Given the description of an element on the screen output the (x, y) to click on. 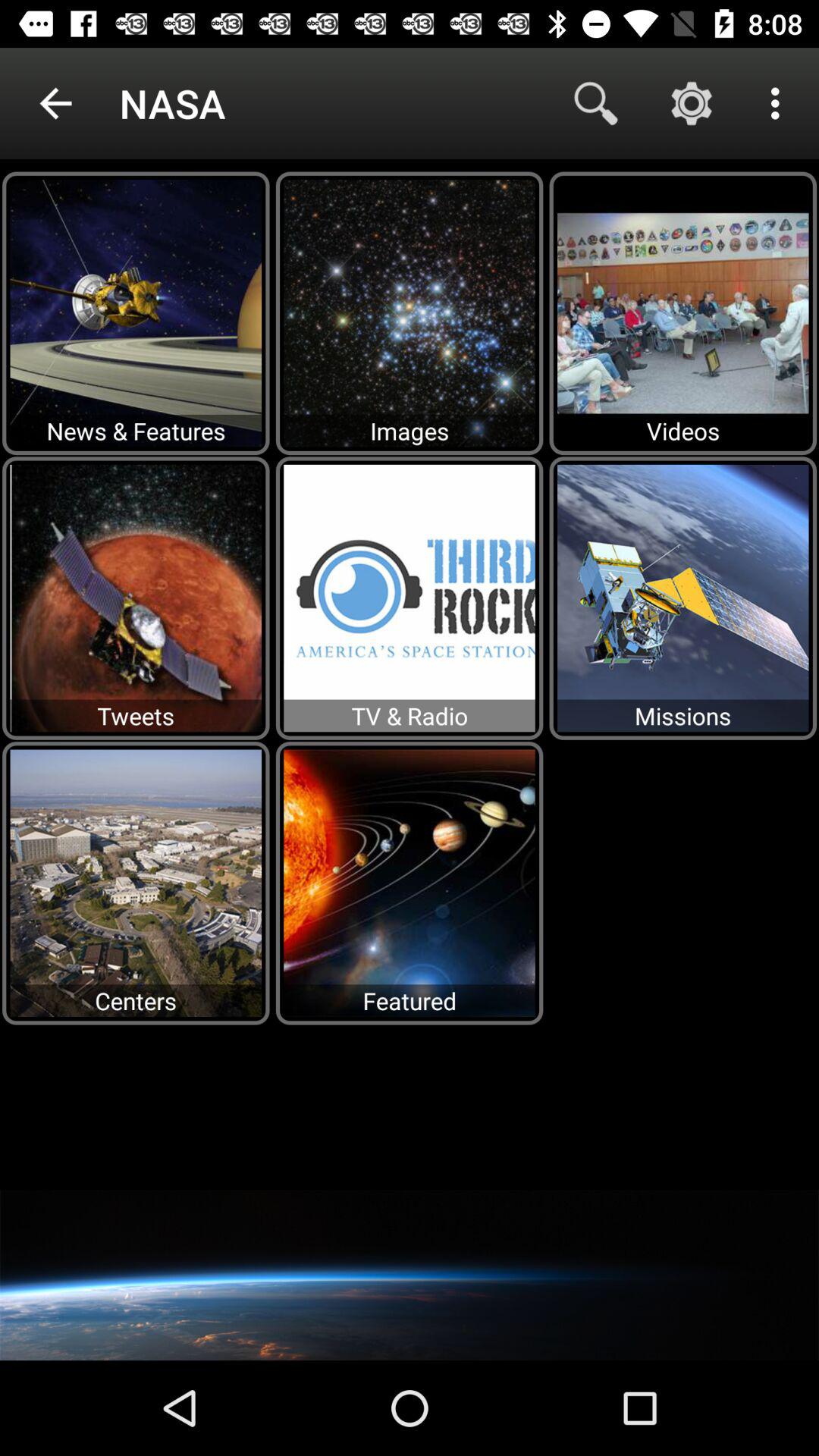
click the icon next to nasa icon (55, 103)
